Given the description of an element on the screen output the (x, y) to click on. 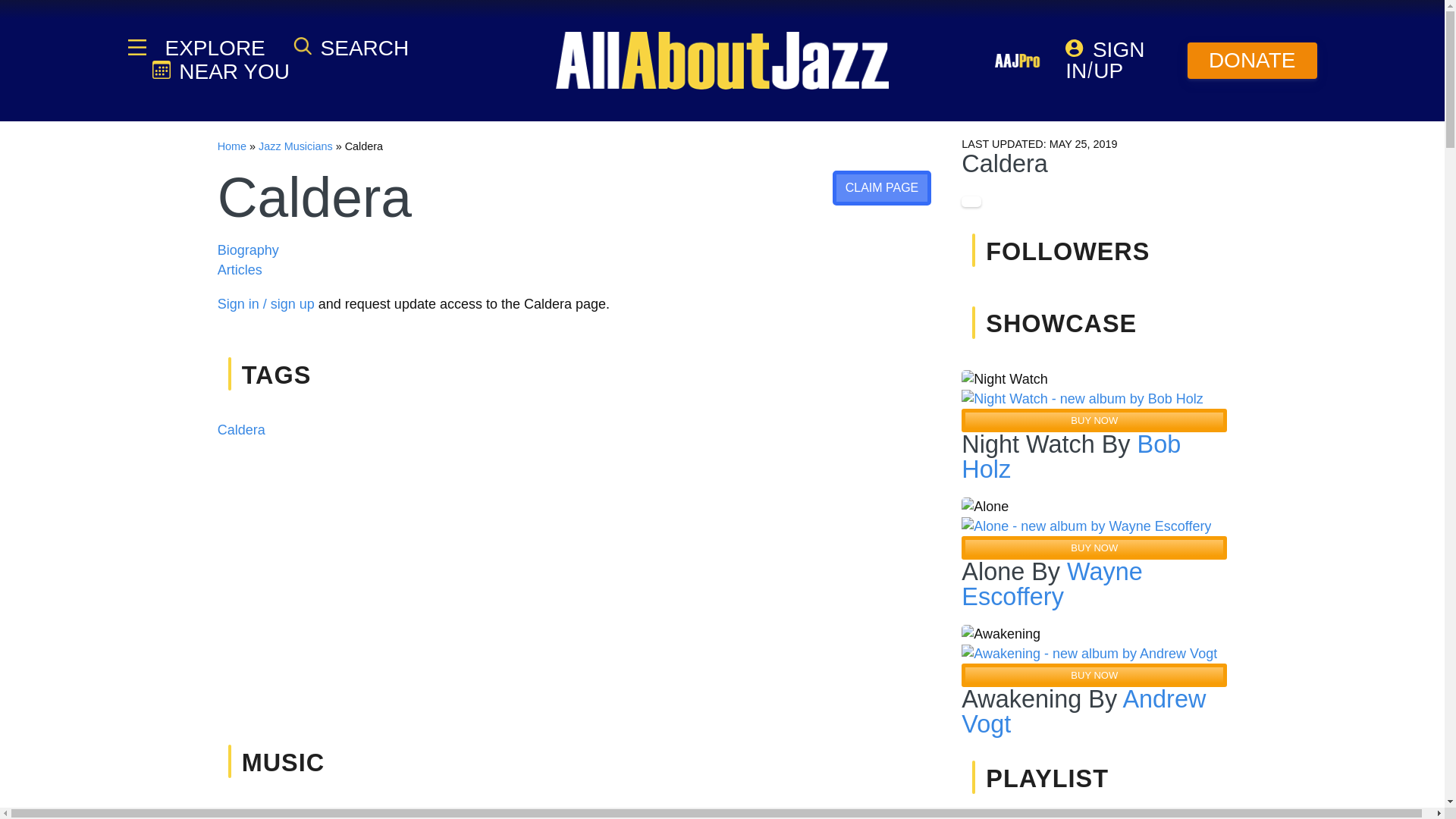
Search All About Jazz by category (351, 47)
MUSIC (282, 762)
All About Jazz For Professionals (1018, 60)
Home (231, 146)
Claim this page then update it (881, 187)
Jazz Musicians (296, 146)
Support All About Jazz and go ad-free! (1252, 60)
View jazz concerts near you (220, 71)
EXPLORE (212, 47)
SIGN IN UP (1114, 60)
